Given the description of an element on the screen output the (x, y) to click on. 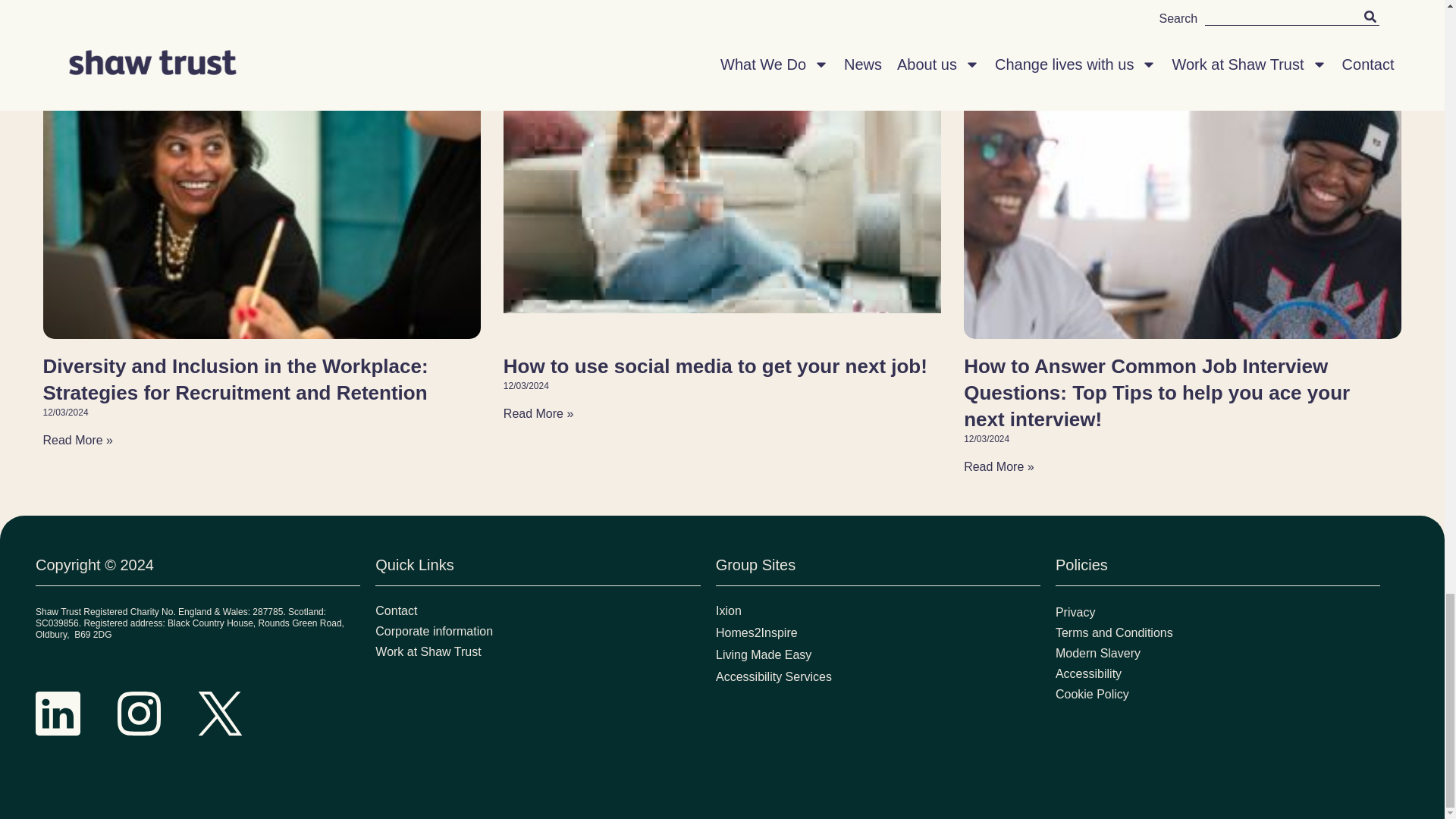
Opens in new tab (878, 633)
Opens in new tab (878, 654)
Opens in new tab (878, 676)
Opens in new tab (878, 611)
